Given the description of an element on the screen output the (x, y) to click on. 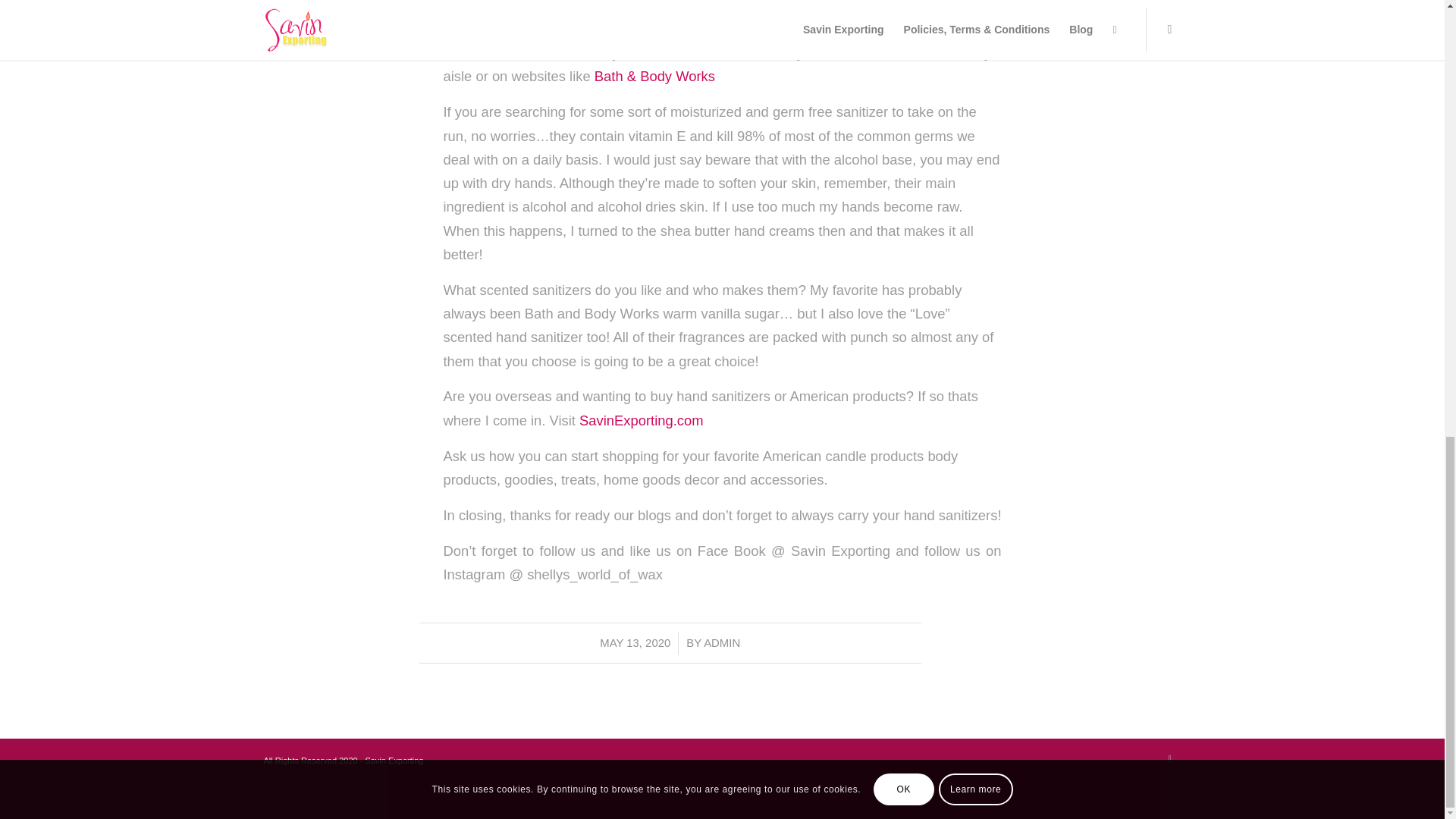
Posts by admin (721, 643)
SavinExporting.com (641, 420)
Instagram (1169, 757)
ADMIN (721, 643)
